Given the description of an element on the screen output the (x, y) to click on. 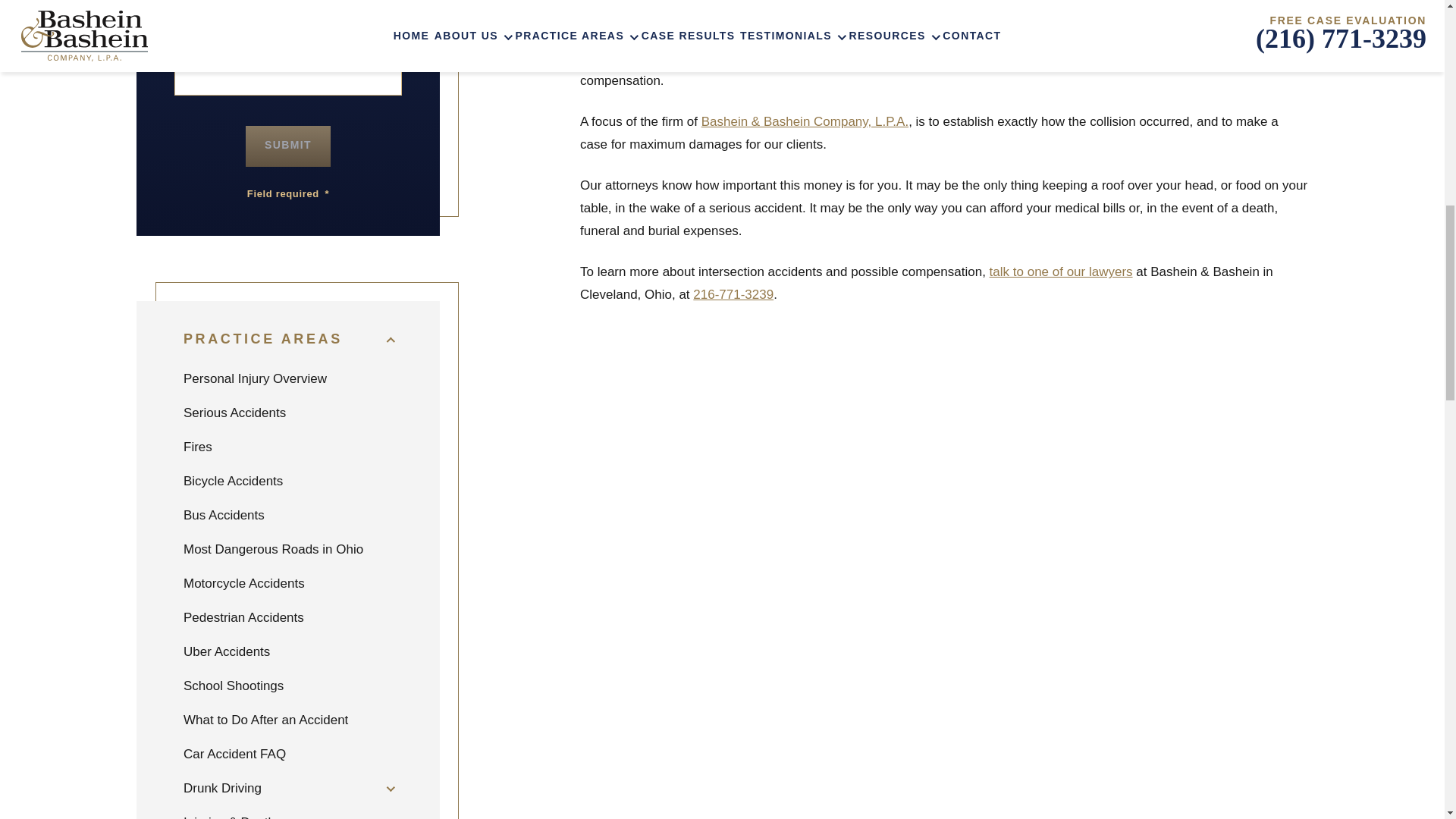
Bicycle Accidents (288, 480)
SUBMIT (288, 146)
Pedestrian Accidents (288, 617)
Personal Injury Overview (288, 378)
216-771-3239 (733, 294)
Uber Accidents (288, 651)
Fires (288, 446)
Bus Accidents (288, 514)
Motorcycle Accidents (288, 583)
Most Dangerous Roads in Ohio (288, 549)
talk to one of our lawyers (1061, 271)
Serious Accidents (288, 412)
